Given the description of an element on the screen output the (x, y) to click on. 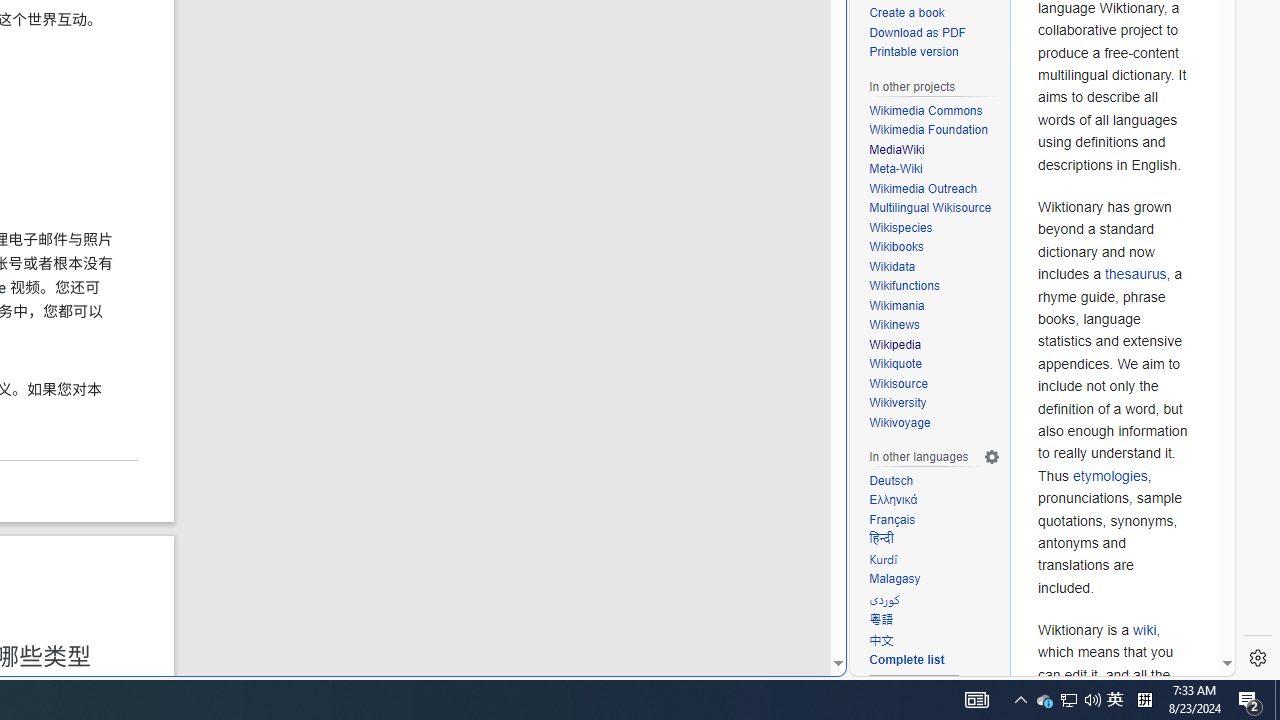
Printable version (934, 53)
Language settings (992, 457)
MediaWiki (897, 148)
Wikisource (898, 382)
Wikimedia Outreach (934, 189)
Wikimedia Foundation (934, 130)
Create a book (934, 13)
MediaWiki (934, 150)
Wikiquote (934, 364)
Wikivoyage (899, 421)
